Given the description of an element on the screen output the (x, y) to click on. 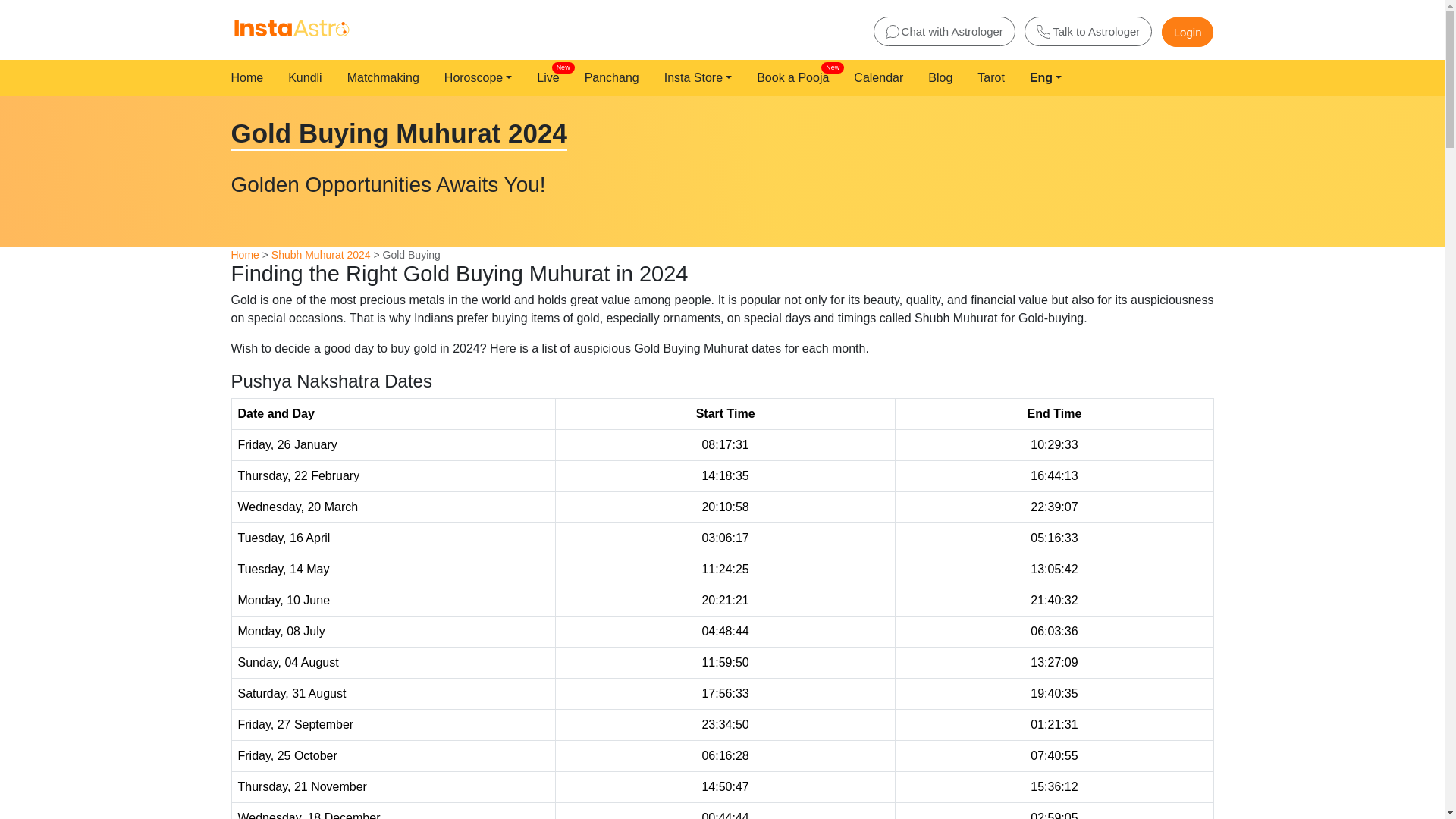
Kundli (307, 78)
Insta Store (700, 78)
Matchmaking (386, 78)
Tarot (993, 78)
Kundli (795, 78)
Home (550, 78)
Panchang (307, 78)
Home (249, 78)
Blog (615, 78)
Blog (244, 254)
Calendar (550, 78)
Horoscope (943, 78)
